Given the description of an element on the screen output the (x, y) to click on. 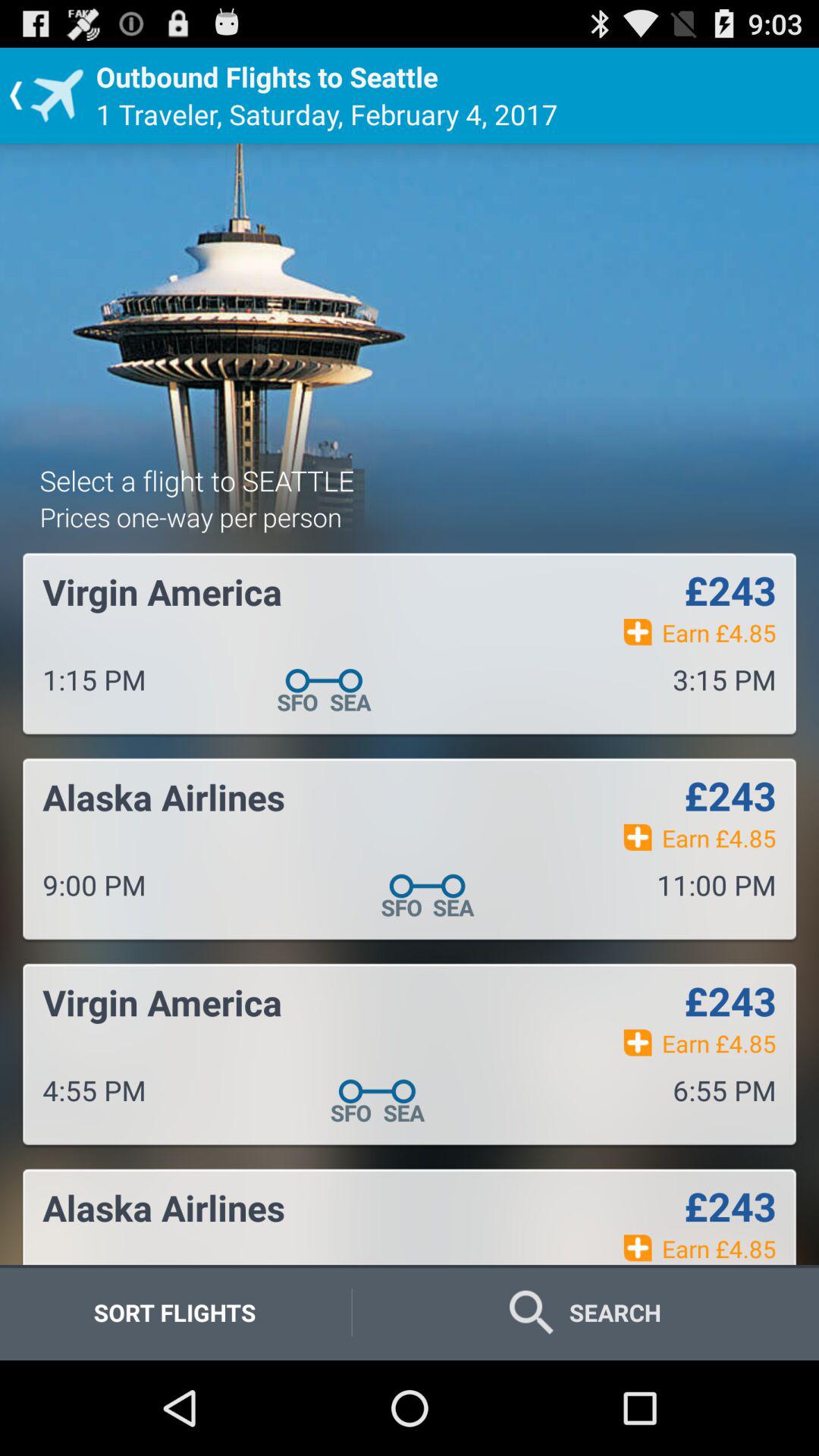
tap icon above the prices one way icon (196, 480)
